Given the description of an element on the screen output the (x, y) to click on. 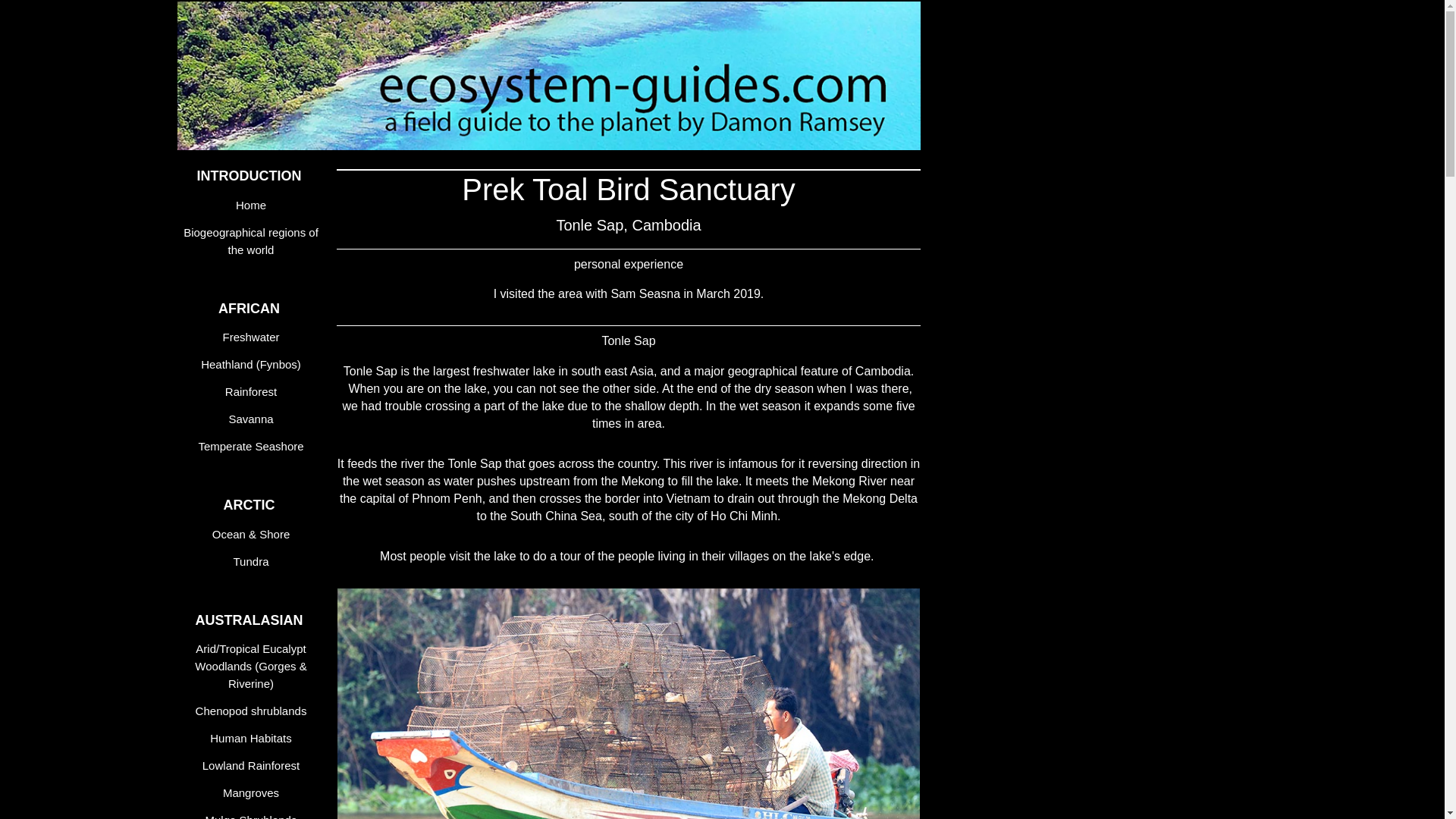
Chenopod shrublands (253, 710)
Rainforest (253, 391)
Home (253, 204)
Human Habitats (253, 738)
Mulga Shrublands (253, 813)
Lowland Rainforest (253, 765)
Temperate Seashore (253, 446)
Freshwater (253, 336)
Biogeographical regions of the world (253, 241)
Savanna (253, 418)
Tundra (253, 561)
Mangroves (253, 792)
